Given the description of an element on the screen output the (x, y) to click on. 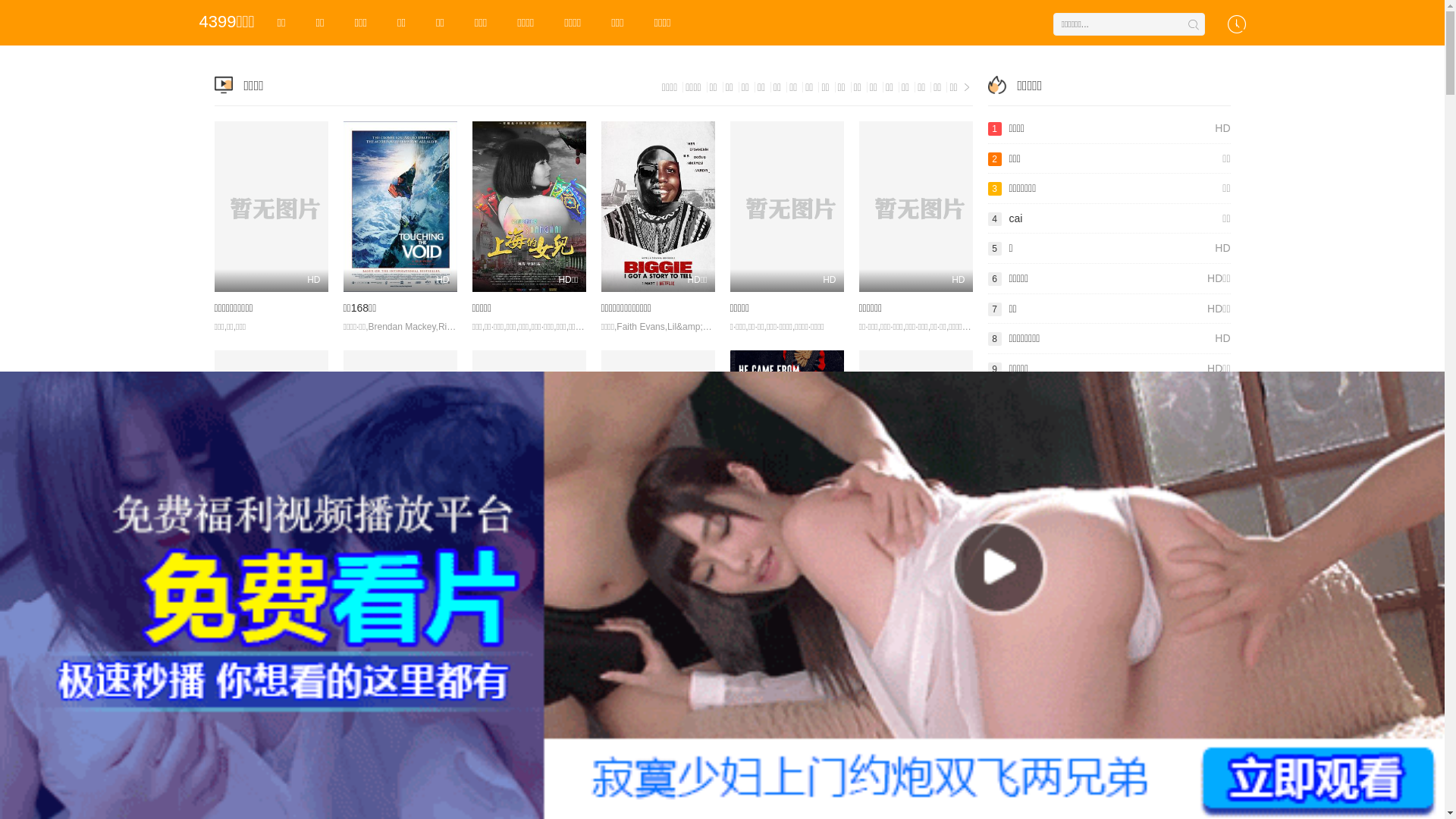
HD Element type: text (915, 206)
HD Element type: text (270, 435)
HD Element type: text (399, 435)
HD Element type: text (528, 435)
HD Element type: text (786, 435)
HD Element type: text (657, 435)
HD Element type: text (270, 206)
HD Element type: text (786, 206)
HD Element type: text (915, 435)
HD Element type: text (399, 206)
